Given the description of an element on the screen output the (x, y) to click on. 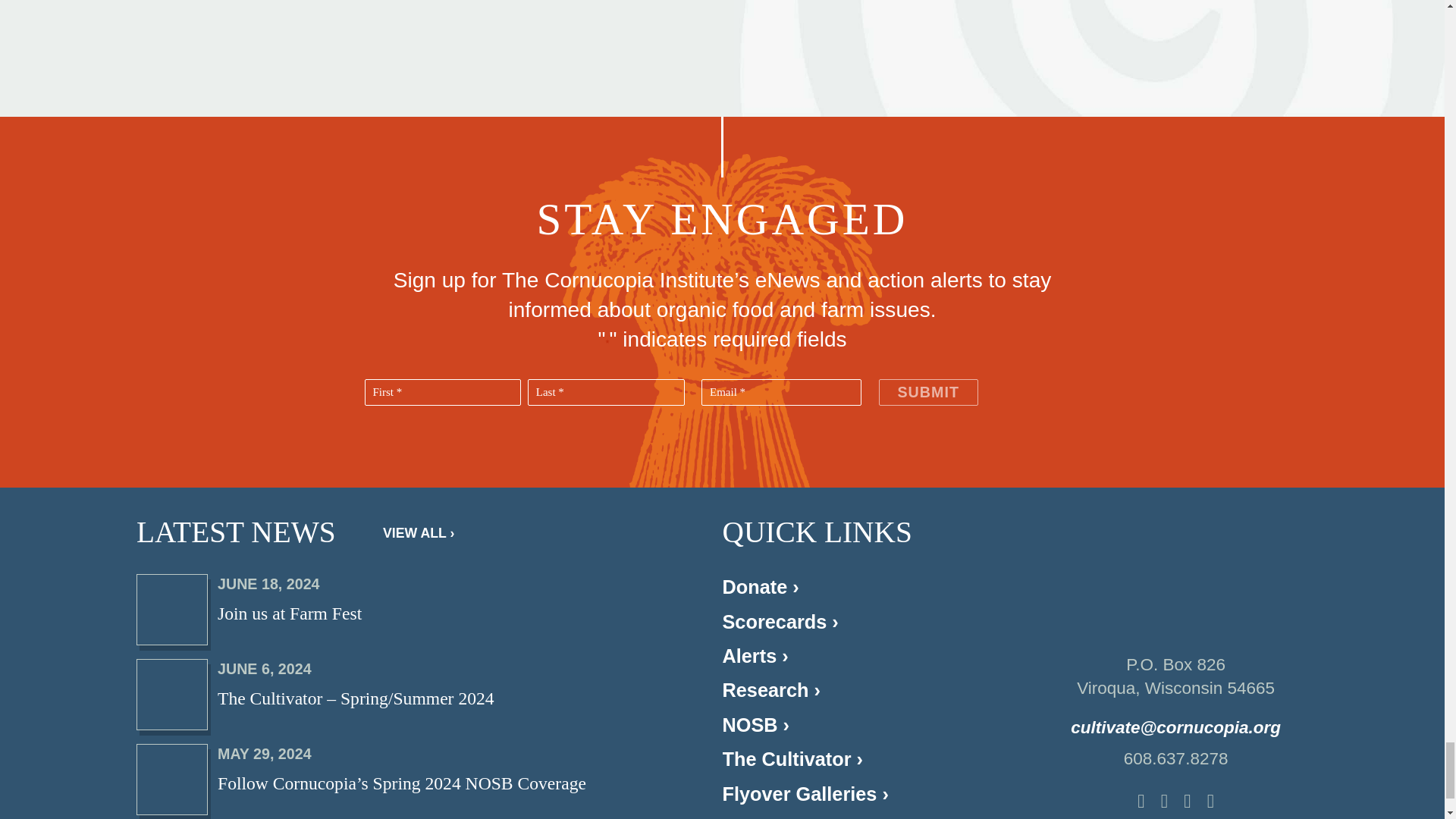
Submit (926, 392)
Cornucopia Institute (1175, 575)
